Given the description of an element on the screen output the (x, y) to click on. 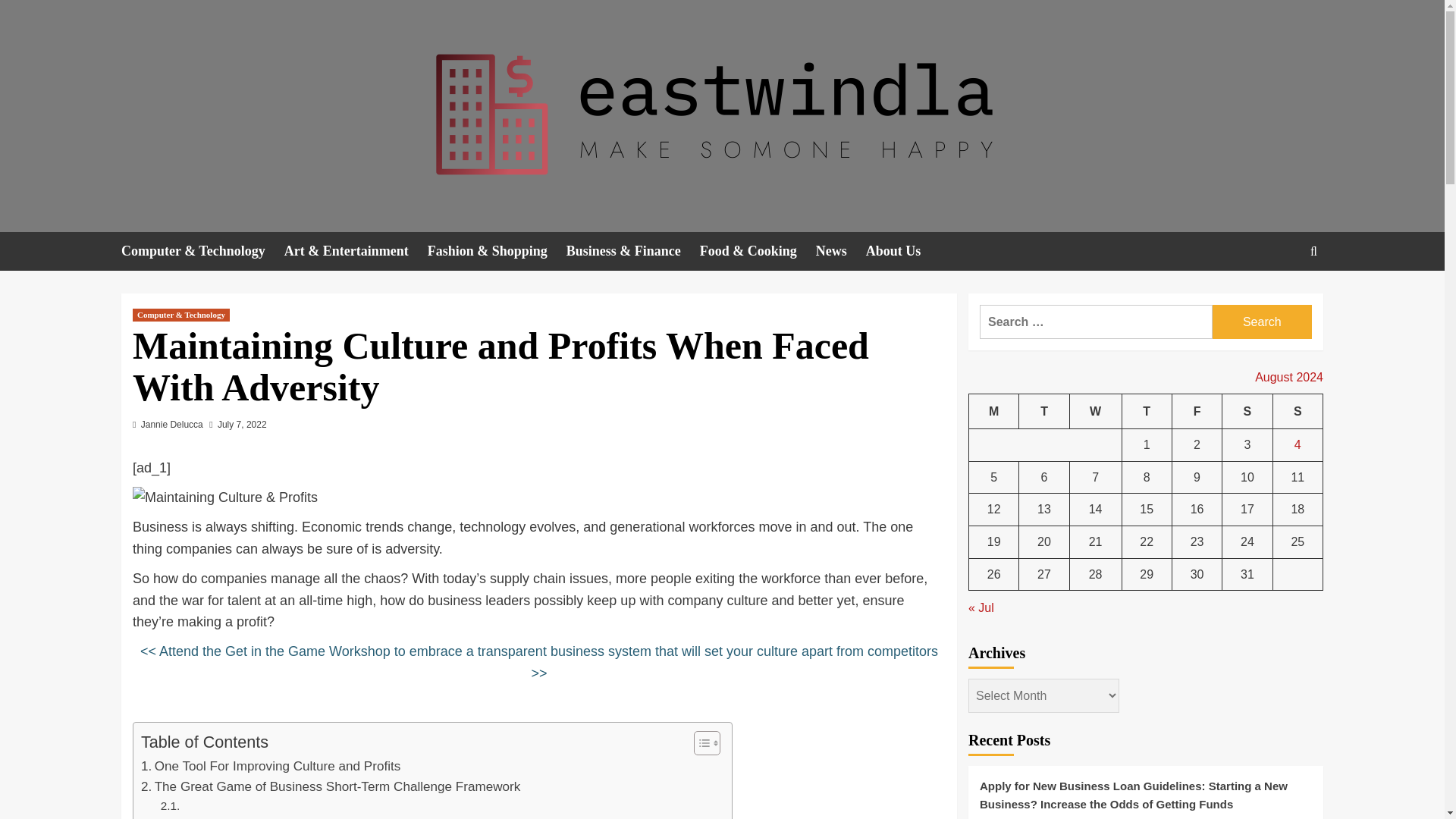
News (840, 251)
Search (1261, 321)
Search (1261, 321)
July 7, 2022 (241, 424)
One Tool For Improving Culture and Profits (270, 765)
Jannie Delucca (172, 424)
About Us (903, 251)
One Tool For Improving Culture and Profits (270, 765)
